Given the description of an element on the screen output the (x, y) to click on. 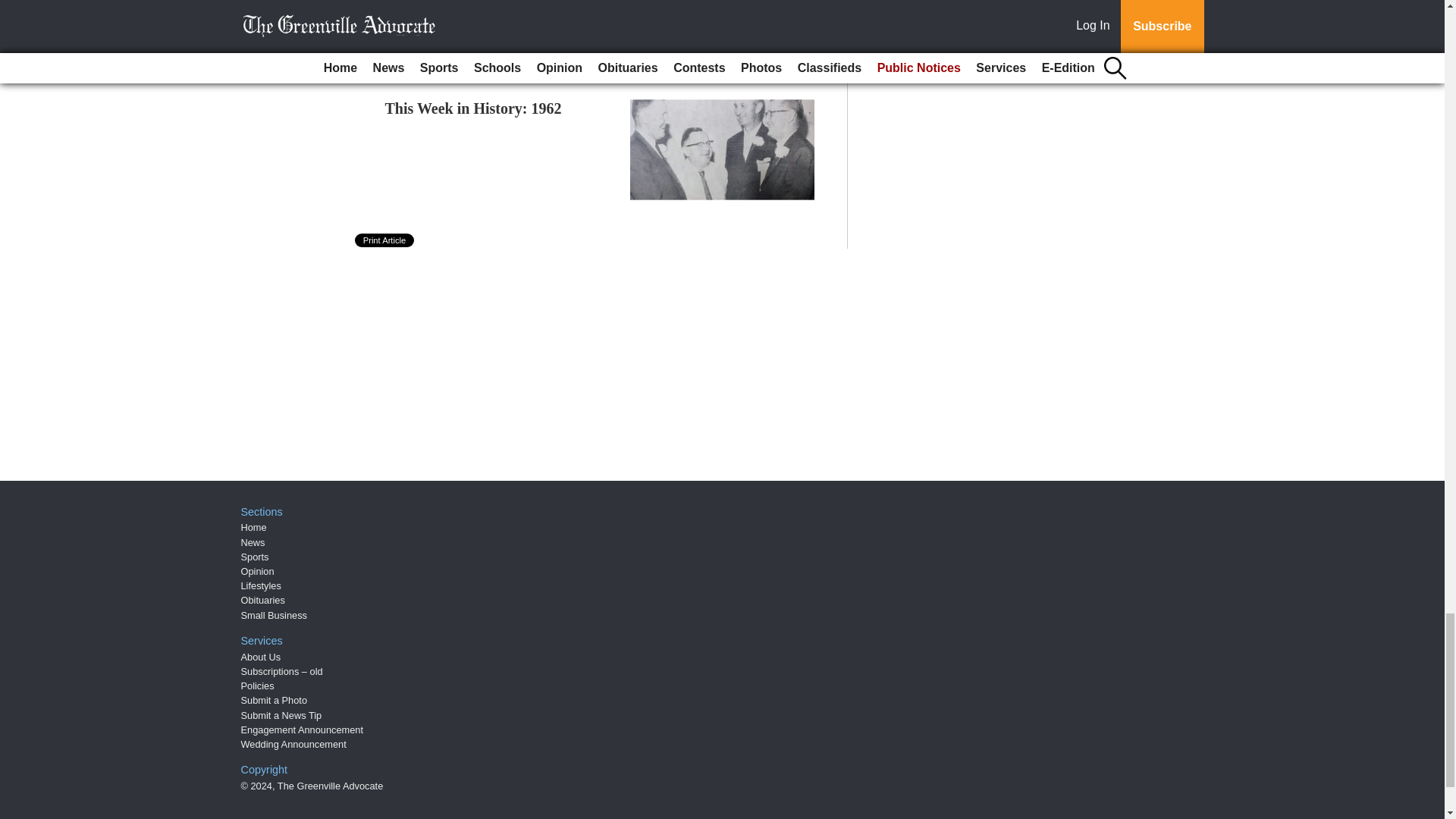
Home (253, 527)
This Week in History: 1962 (473, 108)
This Week in History: 1962 (473, 108)
Print Article (384, 240)
